Given the description of an element on the screen output the (x, y) to click on. 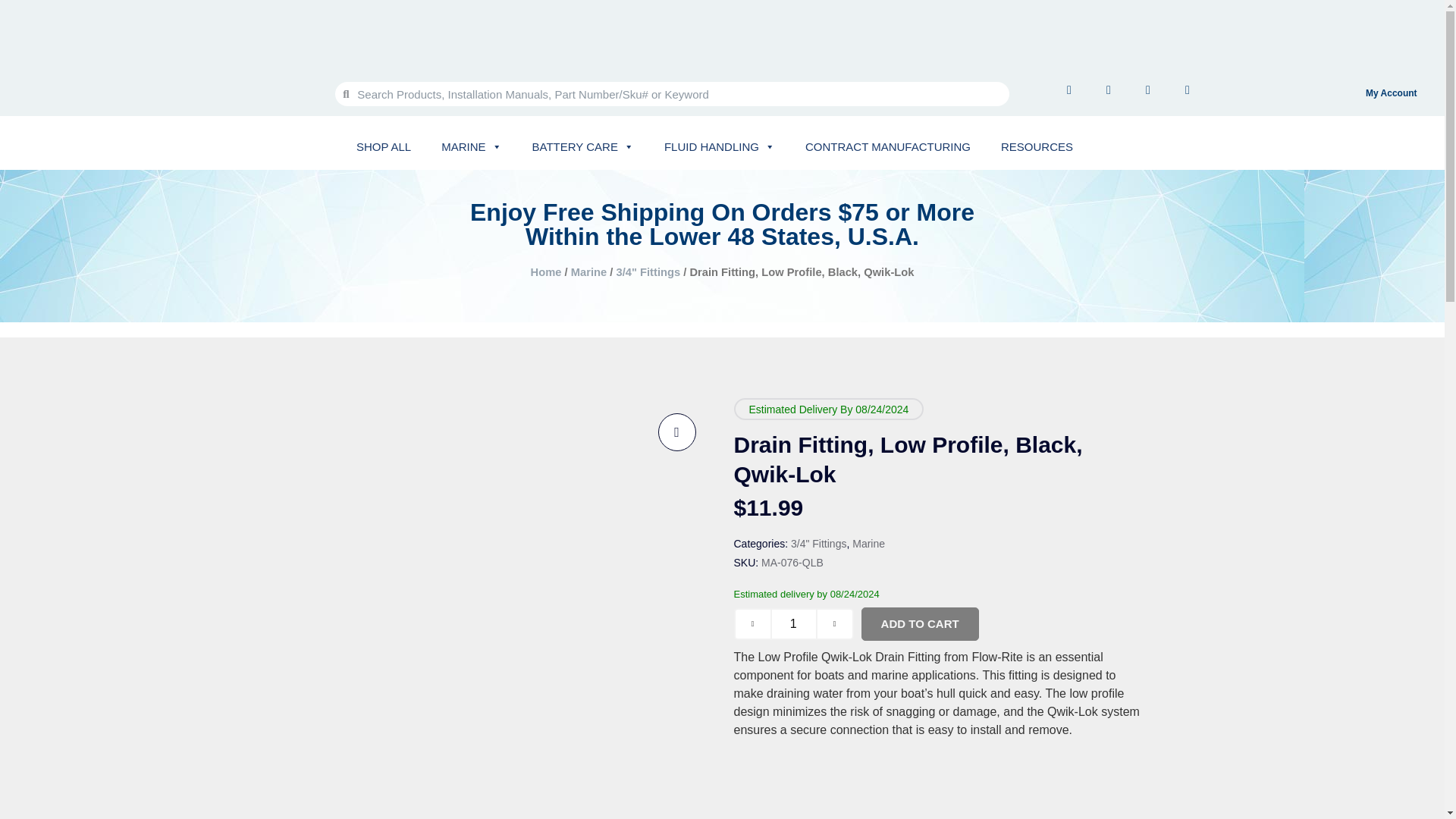
1 (793, 623)
SHOP ALL (384, 146)
BATTERY CARE (583, 146)
Product Thumbnail (676, 432)
MARINE (470, 146)
My Account (1391, 92)
